Given the description of an element on the screen output the (x, y) to click on. 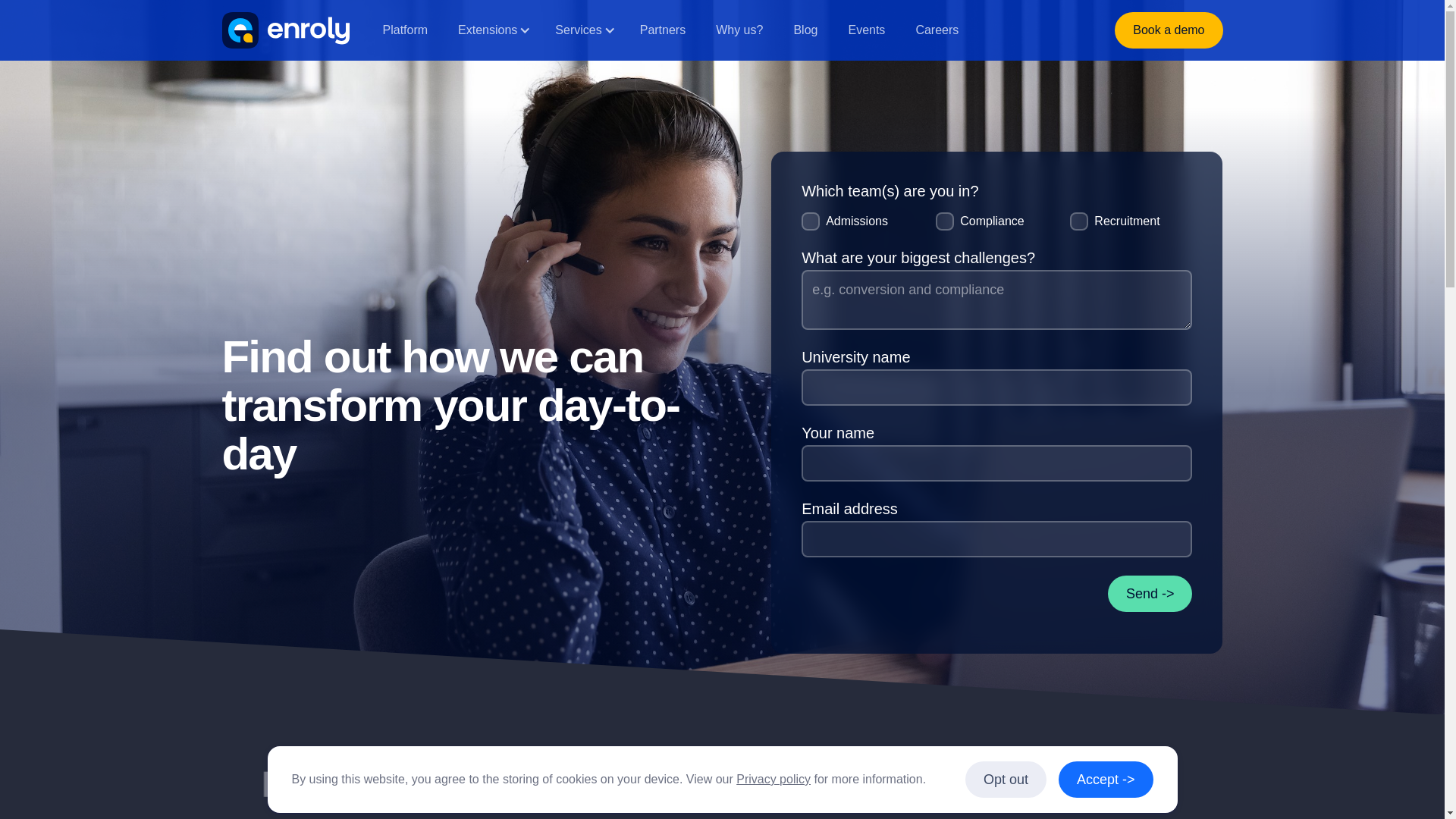
Book a demo (1169, 30)
Partners (662, 30)
Blog (804, 30)
Platform (404, 30)
Events (865, 30)
Why us? (738, 30)
Careers (936, 30)
